Given the description of an element on the screen output the (x, y) to click on. 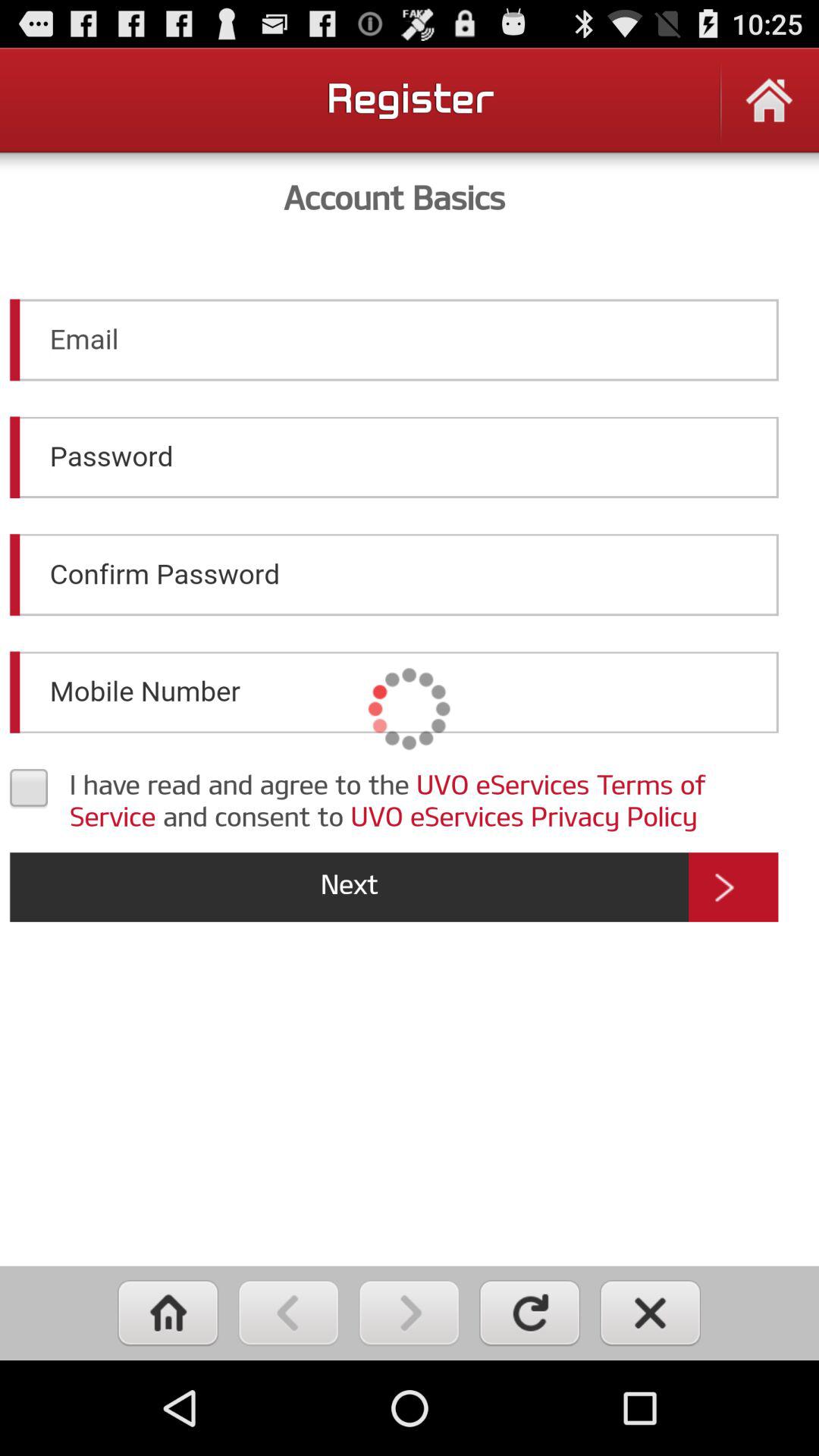
redo button (529, 1313)
